Given the description of an element on the screen output the (x, y) to click on. 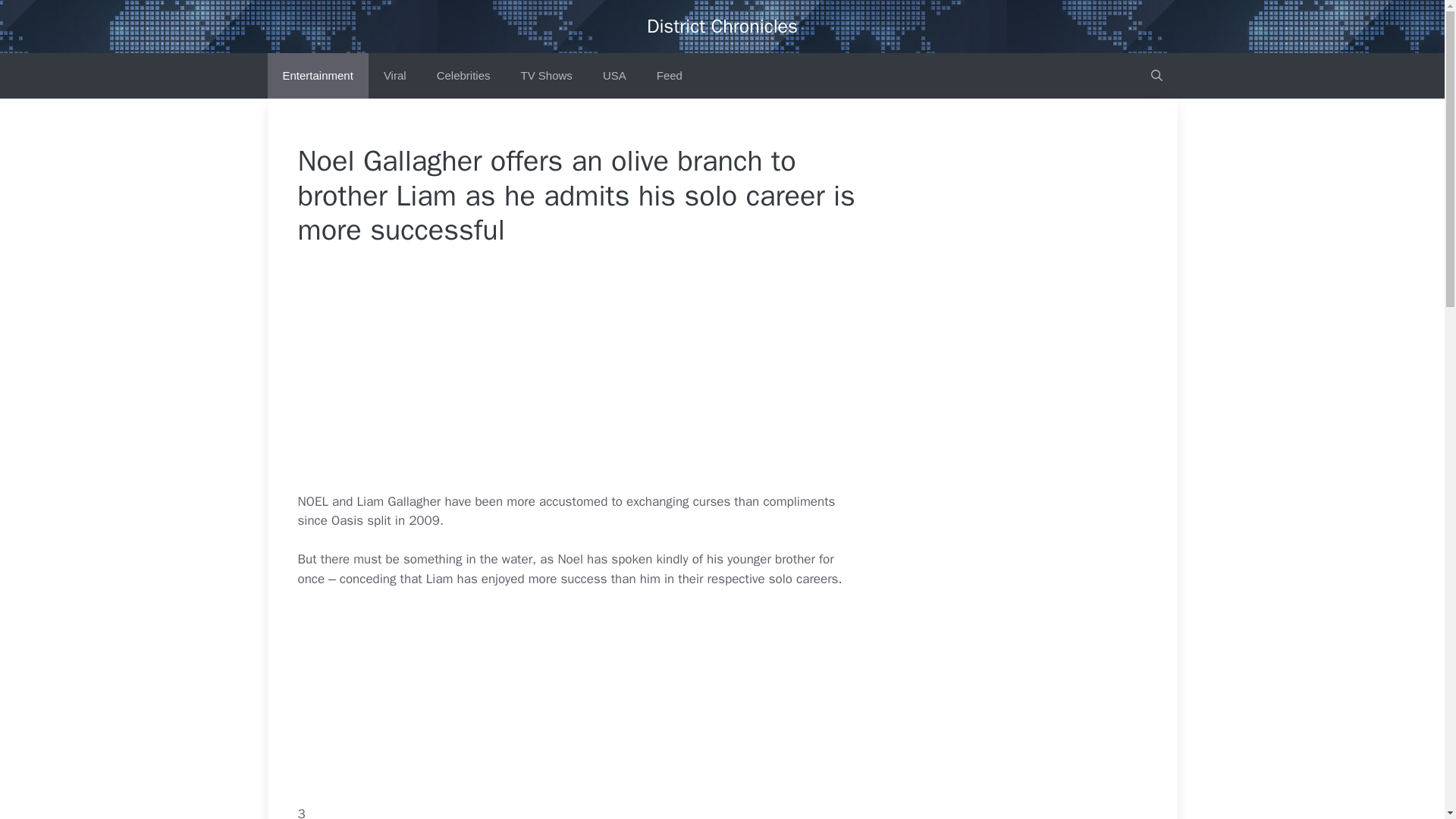
USA (615, 75)
Advertisement (611, 379)
Feed (669, 75)
TV Shows (546, 75)
Advertisement (611, 684)
Viral (395, 75)
Entertainment (317, 75)
Celebrities (463, 75)
District Chronicles (721, 25)
